Given the description of an element on the screen output the (x, y) to click on. 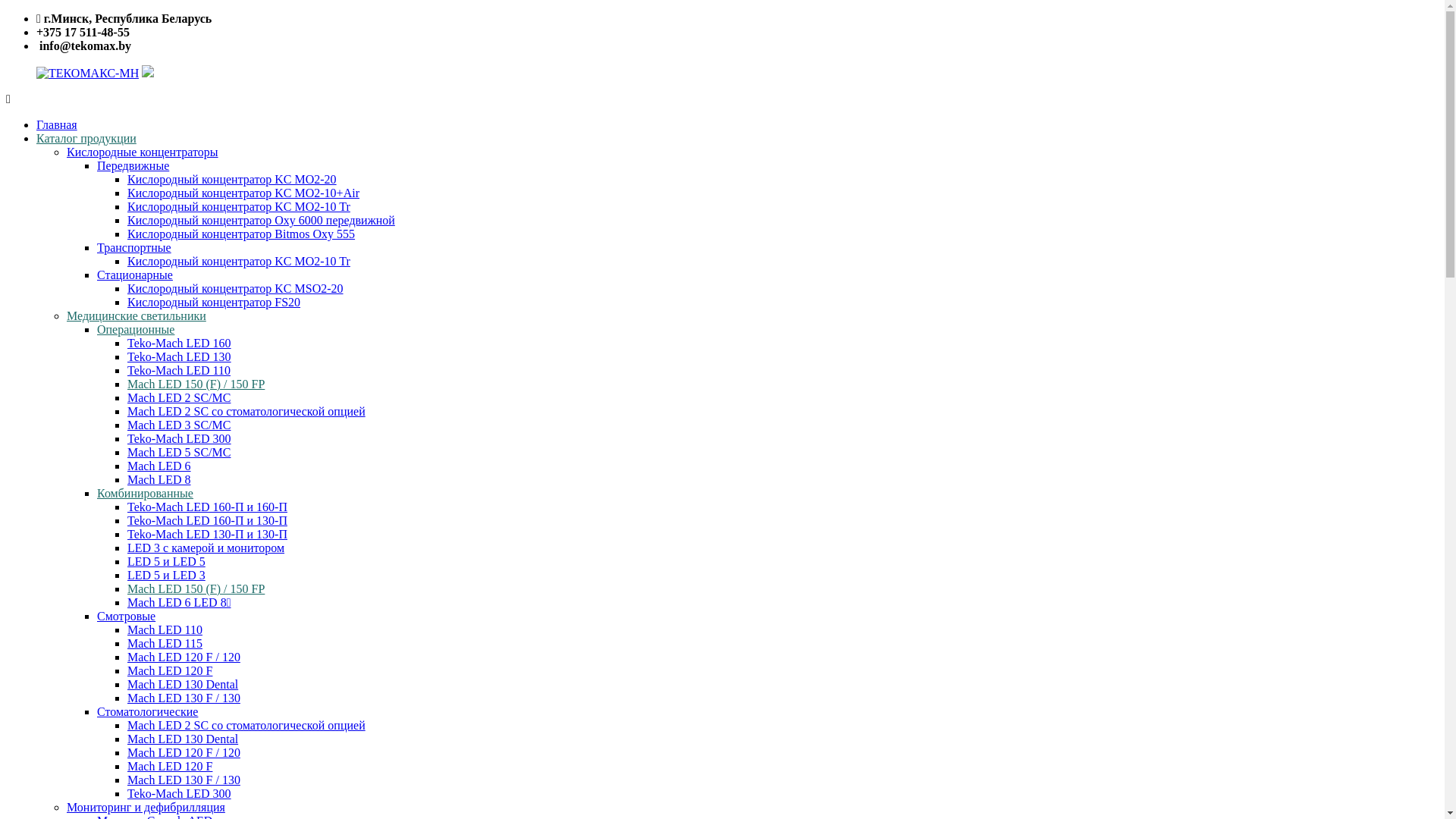
Mach LED 130 Dental Element type: text (182, 683)
Mach LED 6 Element type: text (159, 465)
Mach LED 150 (F) / 150 FP Element type: text (195, 588)
Mach LED 130 F / 130 Element type: text (183, 779)
Mach LED 130 F / 130 Element type: text (183, 697)
Mach LED 150 (F) / 150 FP Element type: text (195, 383)
Mach LED 120 F Element type: text (169, 670)
Mach LED 120 F Element type: text (169, 765)
Teko-Mach LED 160 Element type: text (179, 342)
Mach LED 2 SC/MC Element type: text (178, 397)
Mach LED 120 F / 120 Element type: text (183, 656)
Mach LED 3 SC/MC Element type: text (178, 424)
Mach LED 115 Element type: text (164, 643)
Teko-Mach LED 130 Element type: text (179, 356)
Teko-Mach LED 110 Element type: text (178, 370)
Teko-Mach LED 300 Element type: text (179, 438)
Mach LED 5 SC/MC Element type: text (178, 451)
Mach LED 8 Element type: text (159, 479)
Mach LED 120 F / 120 Element type: text (183, 752)
Mach LED 110 Element type: text (164, 629)
Teko-Mach LED 300 Element type: text (179, 793)
Mach LED 130 Dental Element type: text (182, 738)
